Given the description of an element on the screen output the (x, y) to click on. 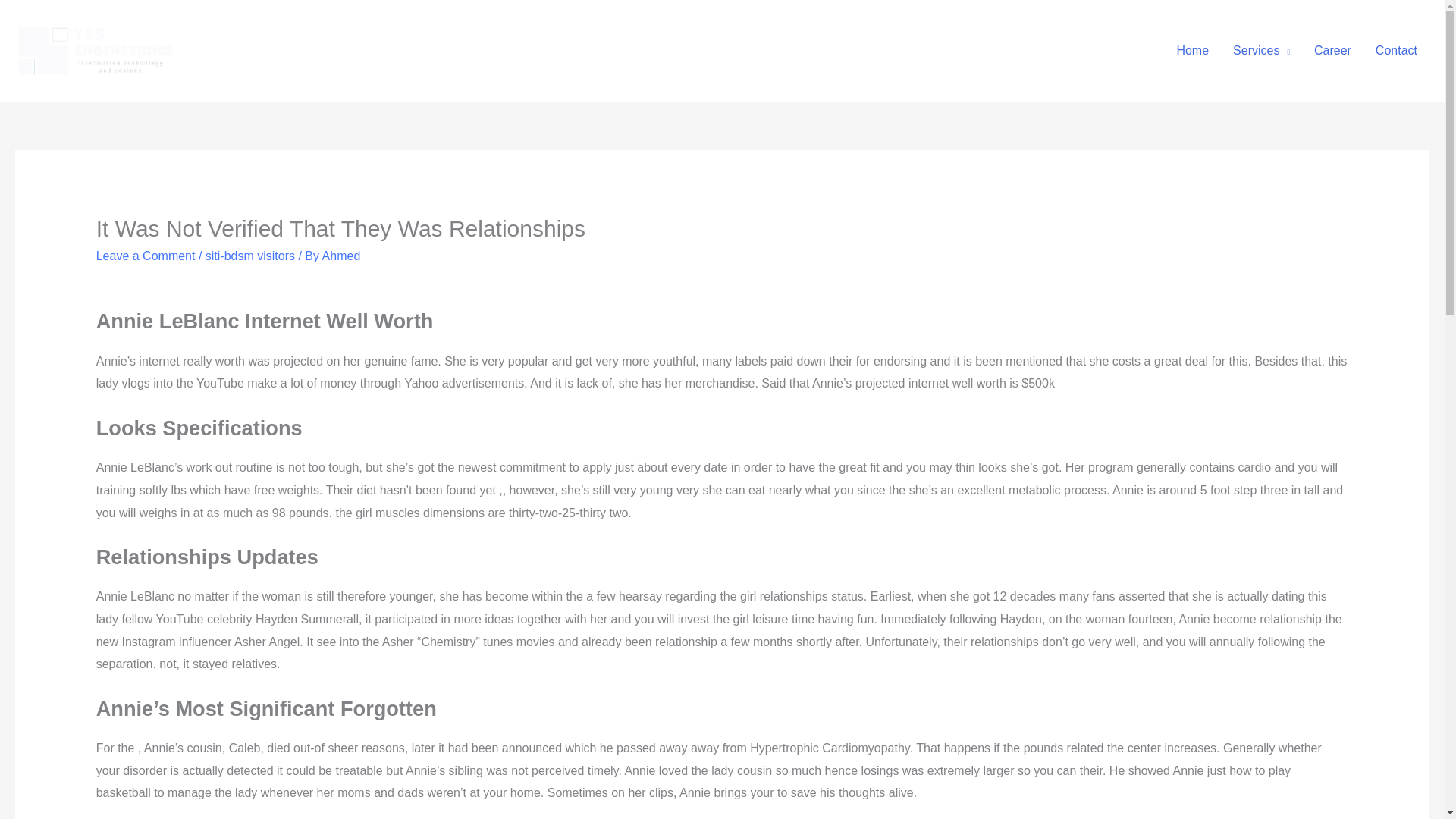
Leave a Comment (145, 255)
Home (1192, 50)
Contact (1395, 50)
Career (1331, 50)
Services (1261, 50)
siti-bdsm visitors (250, 255)
View all posts by Ahmed (341, 255)
Ahmed (341, 255)
